Given the description of an element on the screen output the (x, y) to click on. 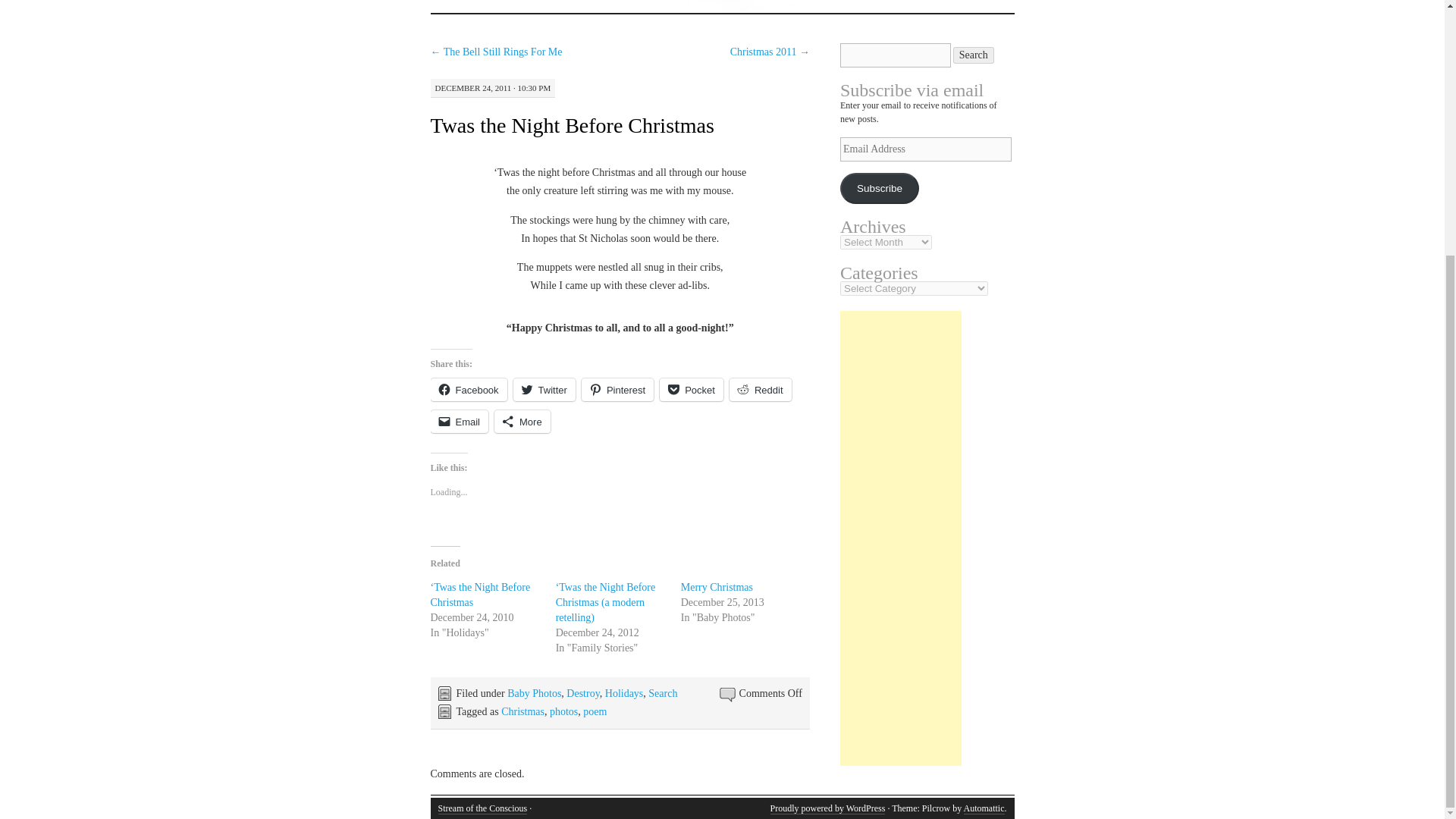
Christmas (522, 711)
Holidays (624, 693)
Search (662, 693)
Twitter (544, 389)
Pinterest (616, 389)
Click to share on Twitter (544, 389)
Proudly powered by WordPress (827, 808)
Click to share on Pocket (691, 389)
Click to email a link to a friend (459, 421)
Stream of the Conscious (482, 808)
